Given the description of an element on the screen output the (x, y) to click on. 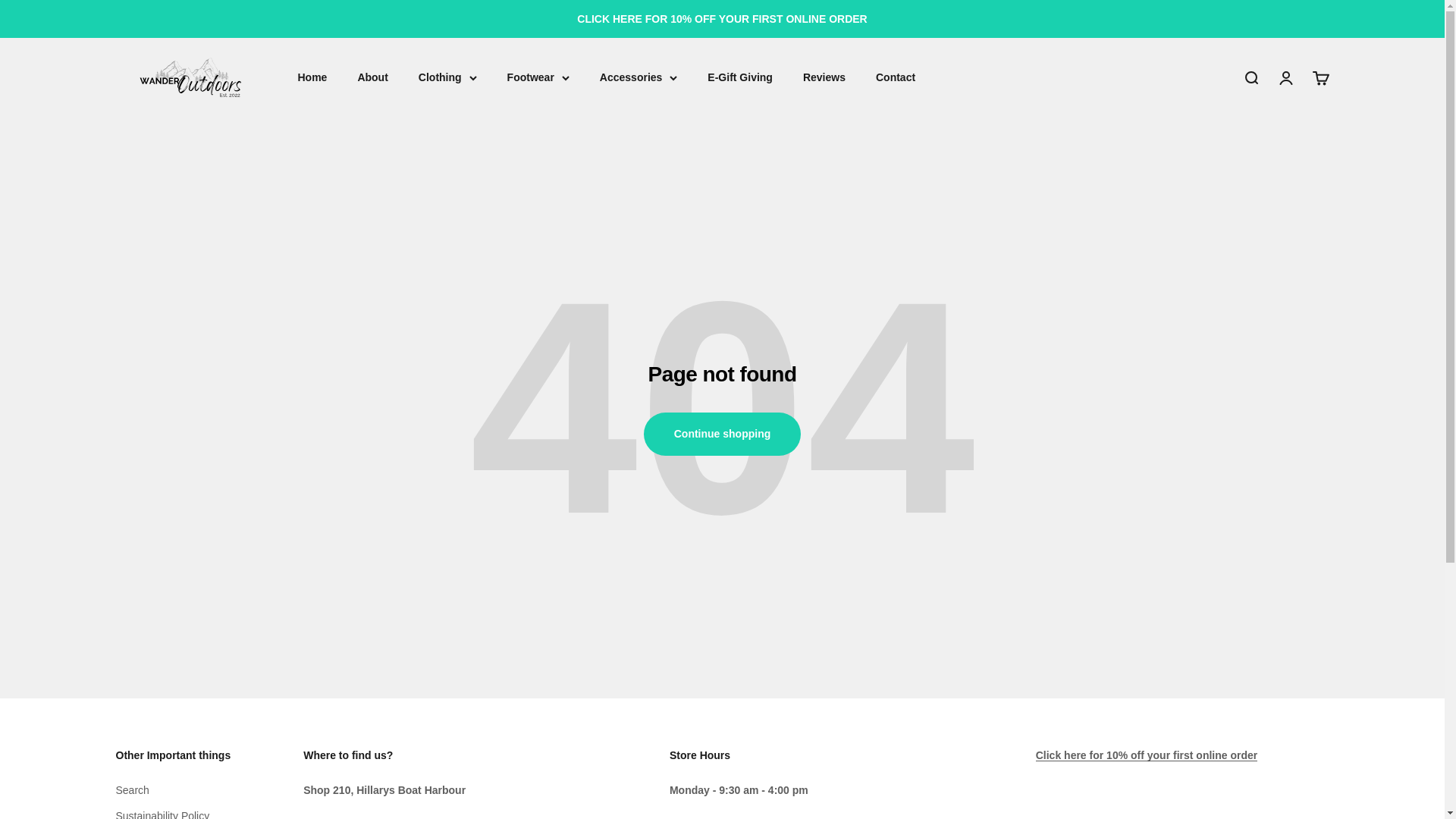
Open account page (1285, 77)
Home (311, 78)
About (371, 78)
Reviews (824, 78)
Open search (1250, 77)
E-Gift Giving (740, 78)
Contact (895, 78)
Wander Outdoors (1319, 77)
